Given the description of an element on the screen output the (x, y) to click on. 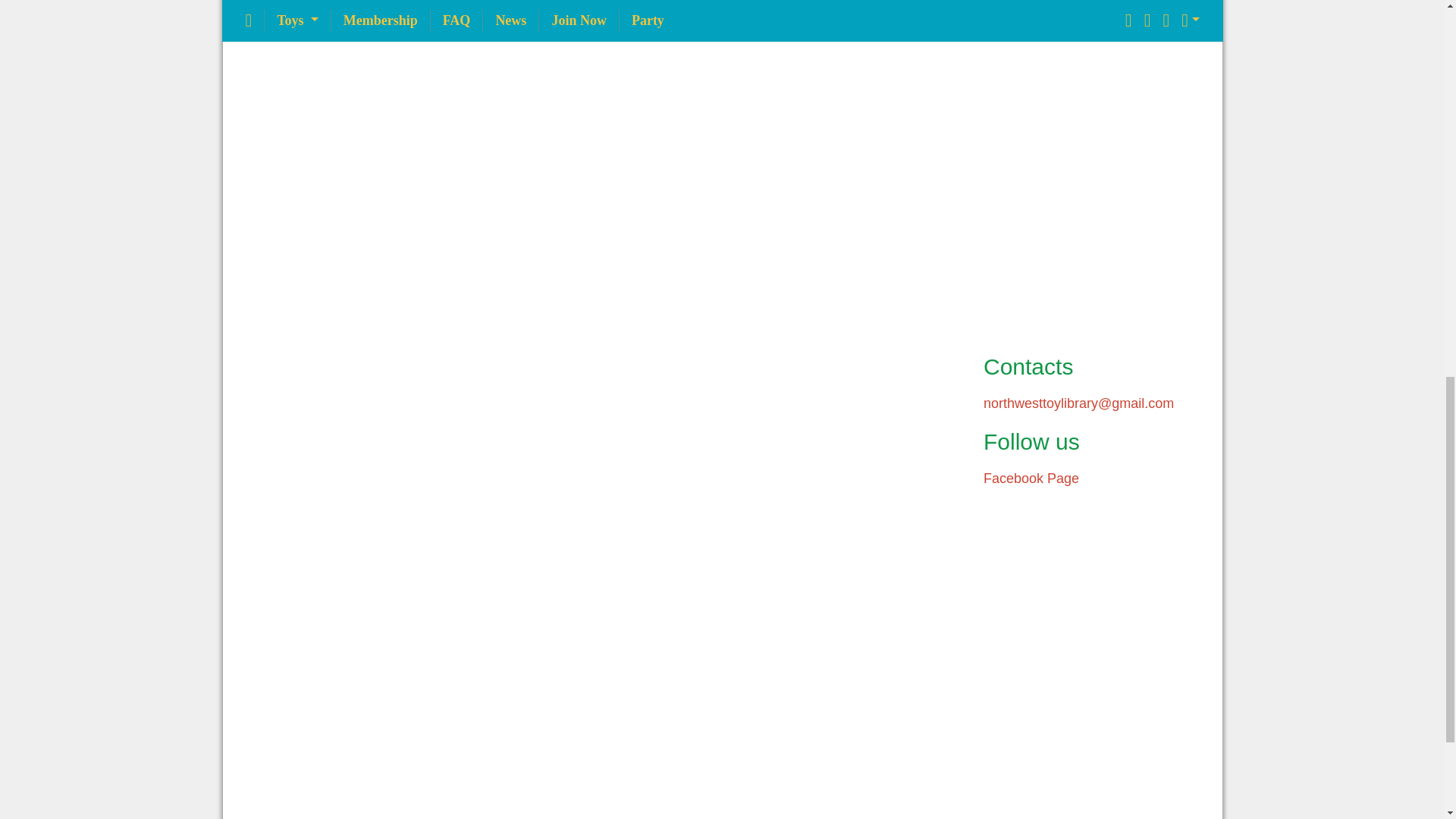
Facebook Page (1031, 478)
